Given the description of an element on the screen output the (x, y) to click on. 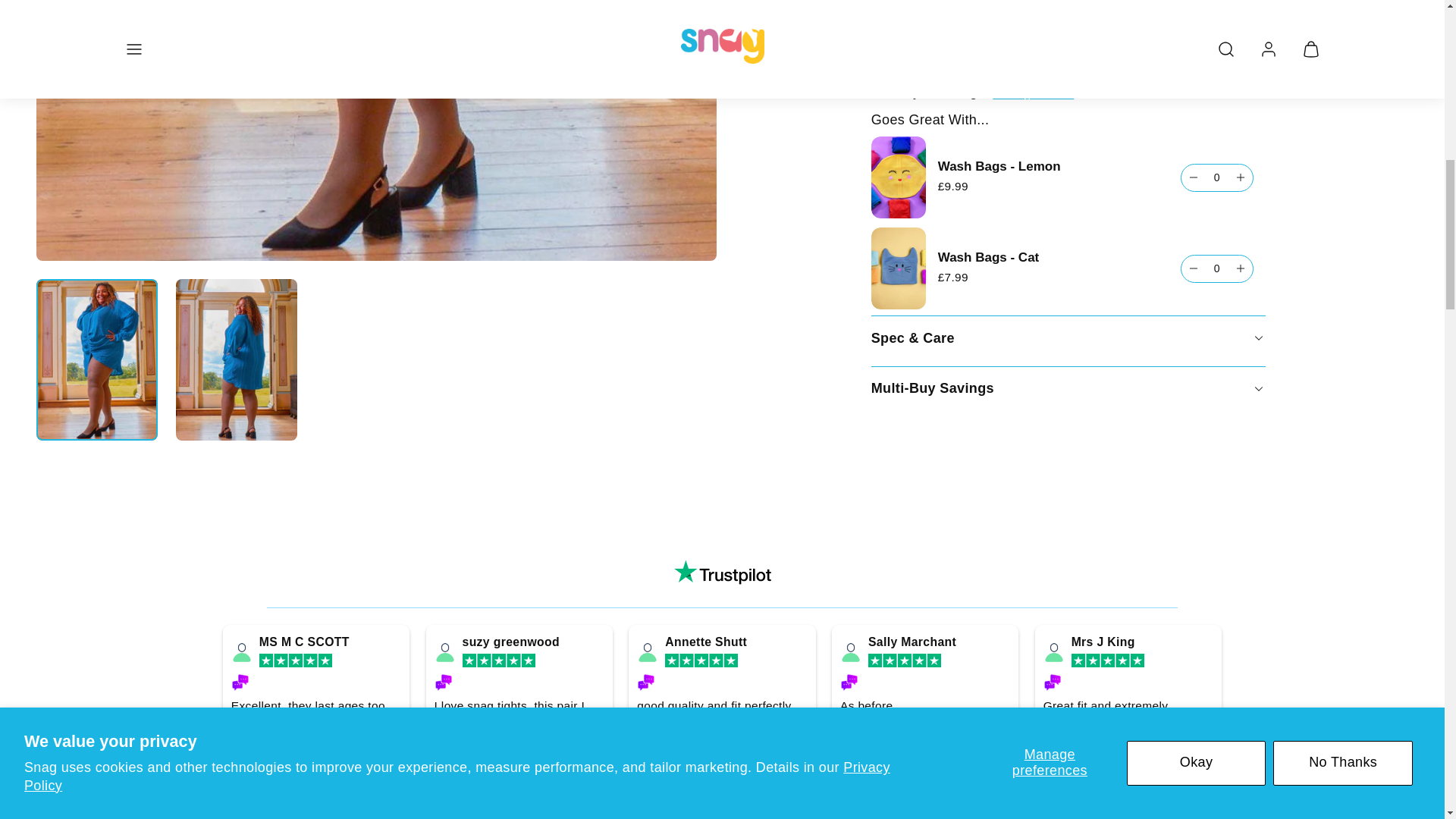
0 (1216, 187)
0 (1216, 96)
